Given the description of an element on the screen output the (x, y) to click on. 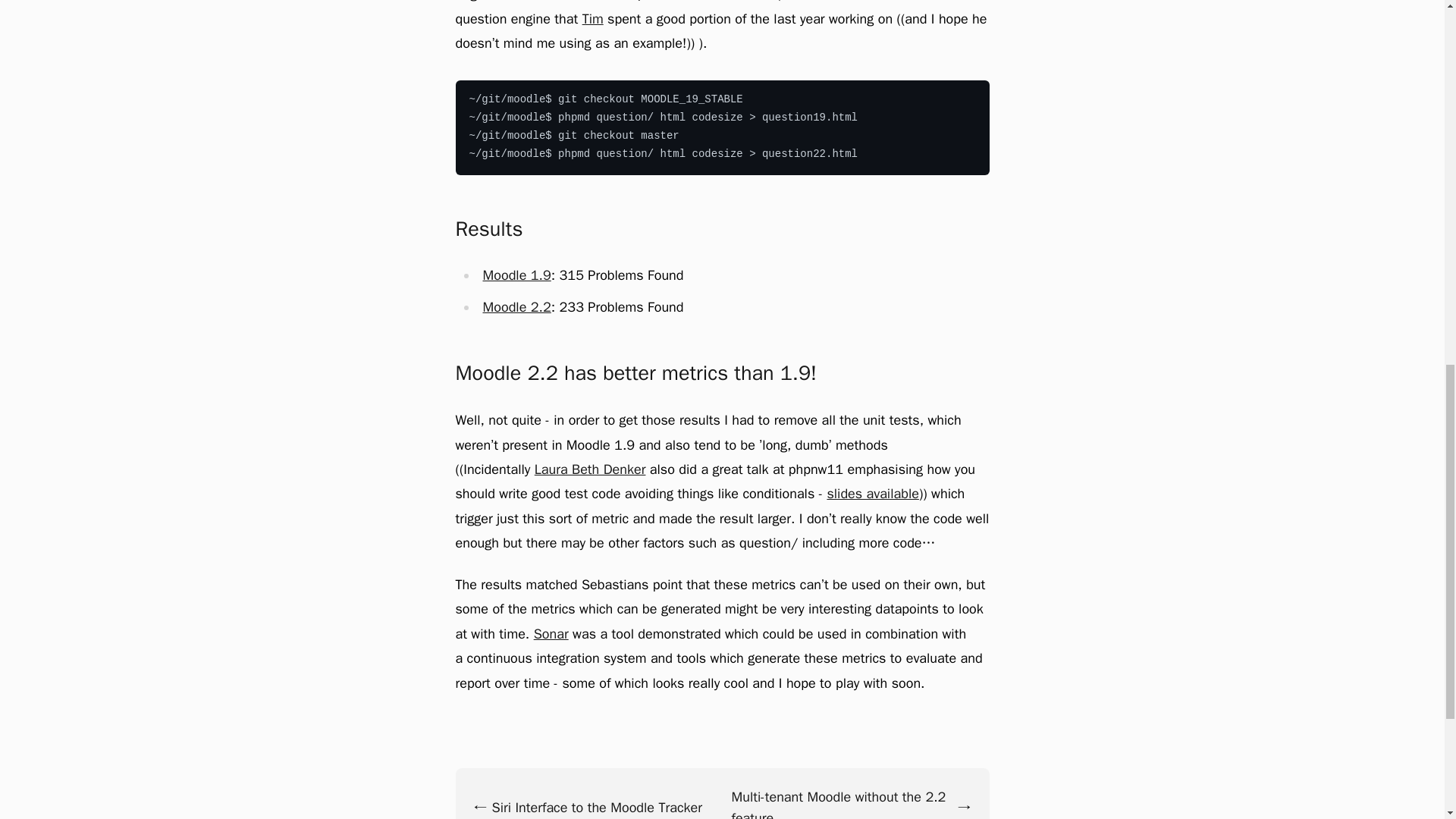
slides available (872, 493)
Sonar (551, 633)
Tim (593, 18)
Laura Beth Denker (590, 469)
Moodle 1.9 (515, 274)
Moodle 2.2 (515, 306)
